Given the description of an element on the screen output the (x, y) to click on. 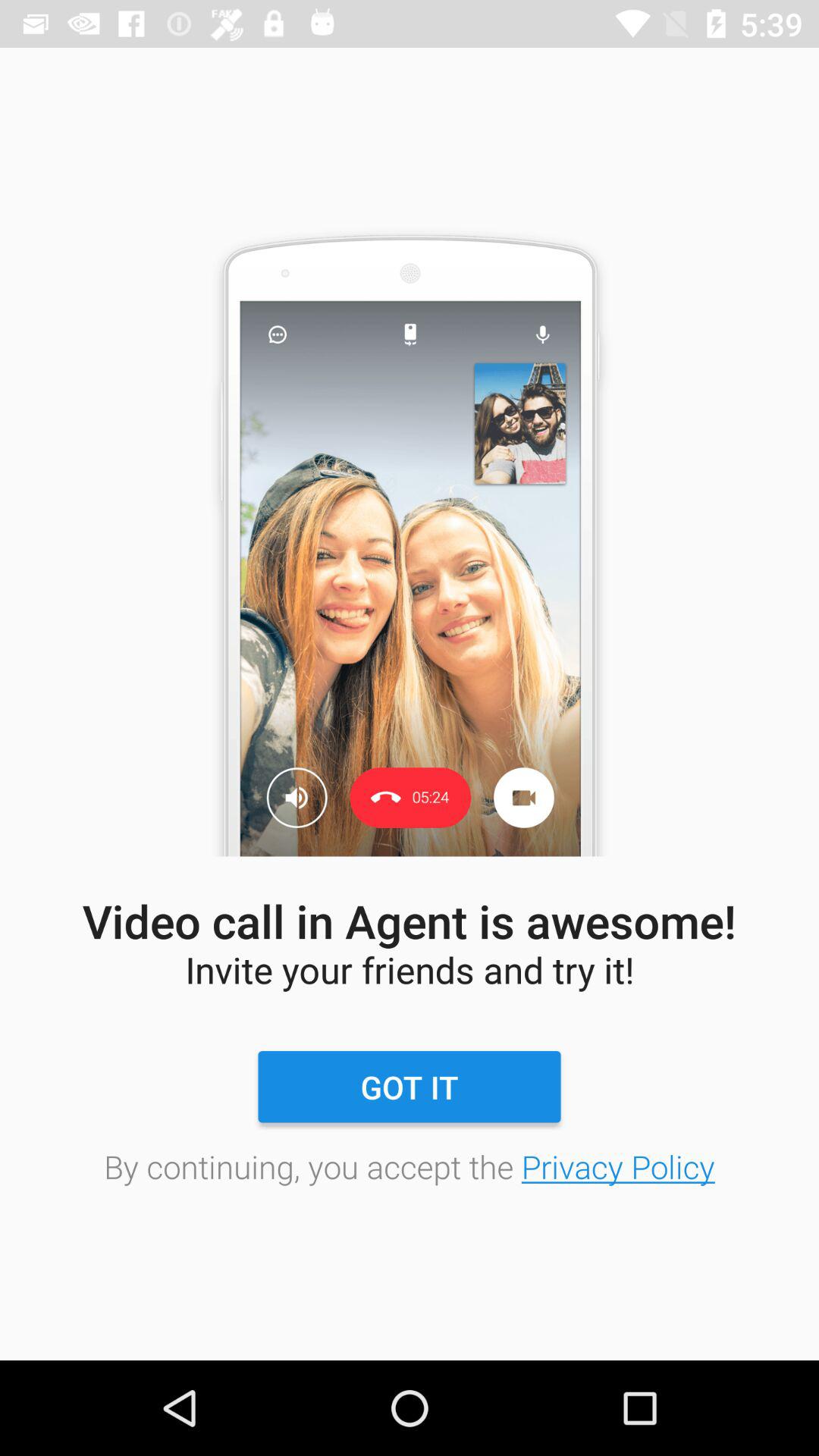
click the icon below the got it icon (409, 1166)
